Given the description of an element on the screen output the (x, y) to click on. 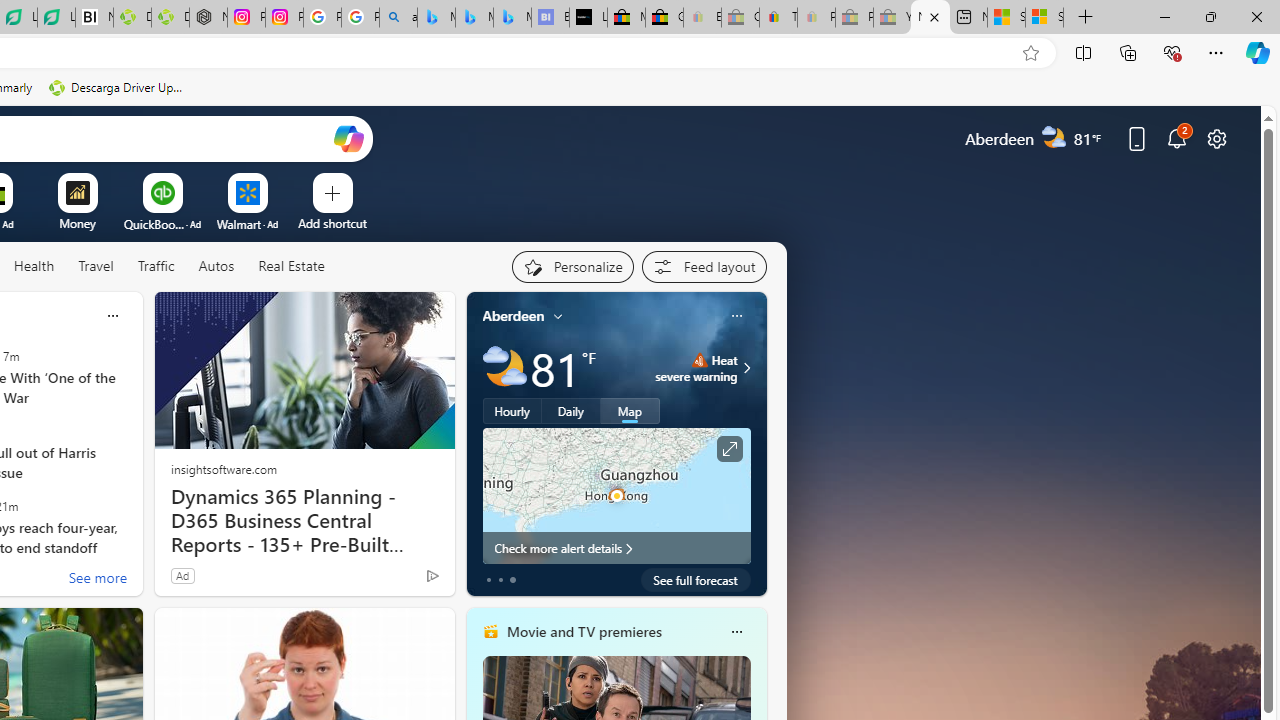
Aberdeen (513, 315)
